Given the description of an element on the screen output the (x, y) to click on. 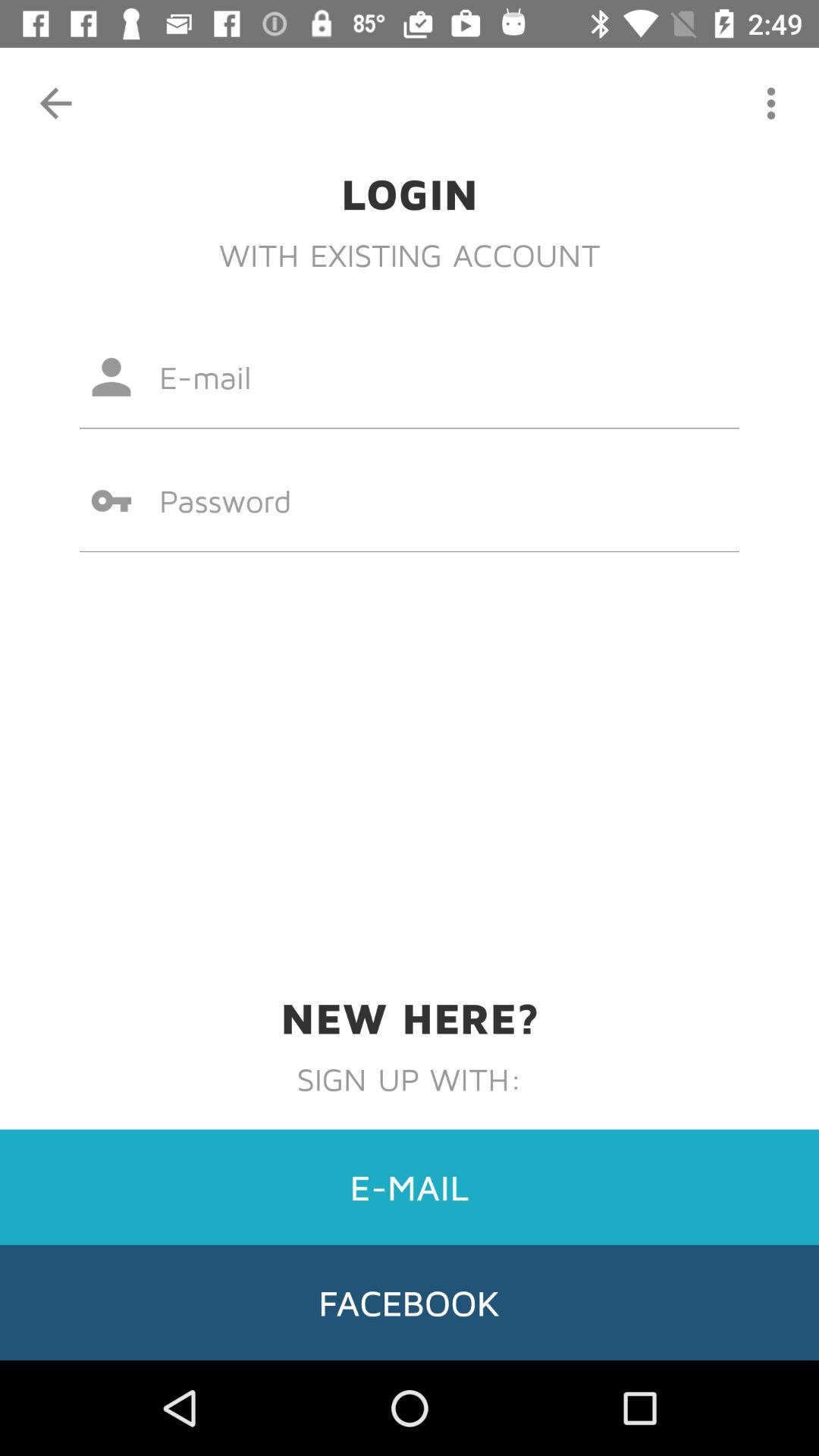
open item at the top left corner (55, 103)
